Given the description of an element on the screen output the (x, y) to click on. 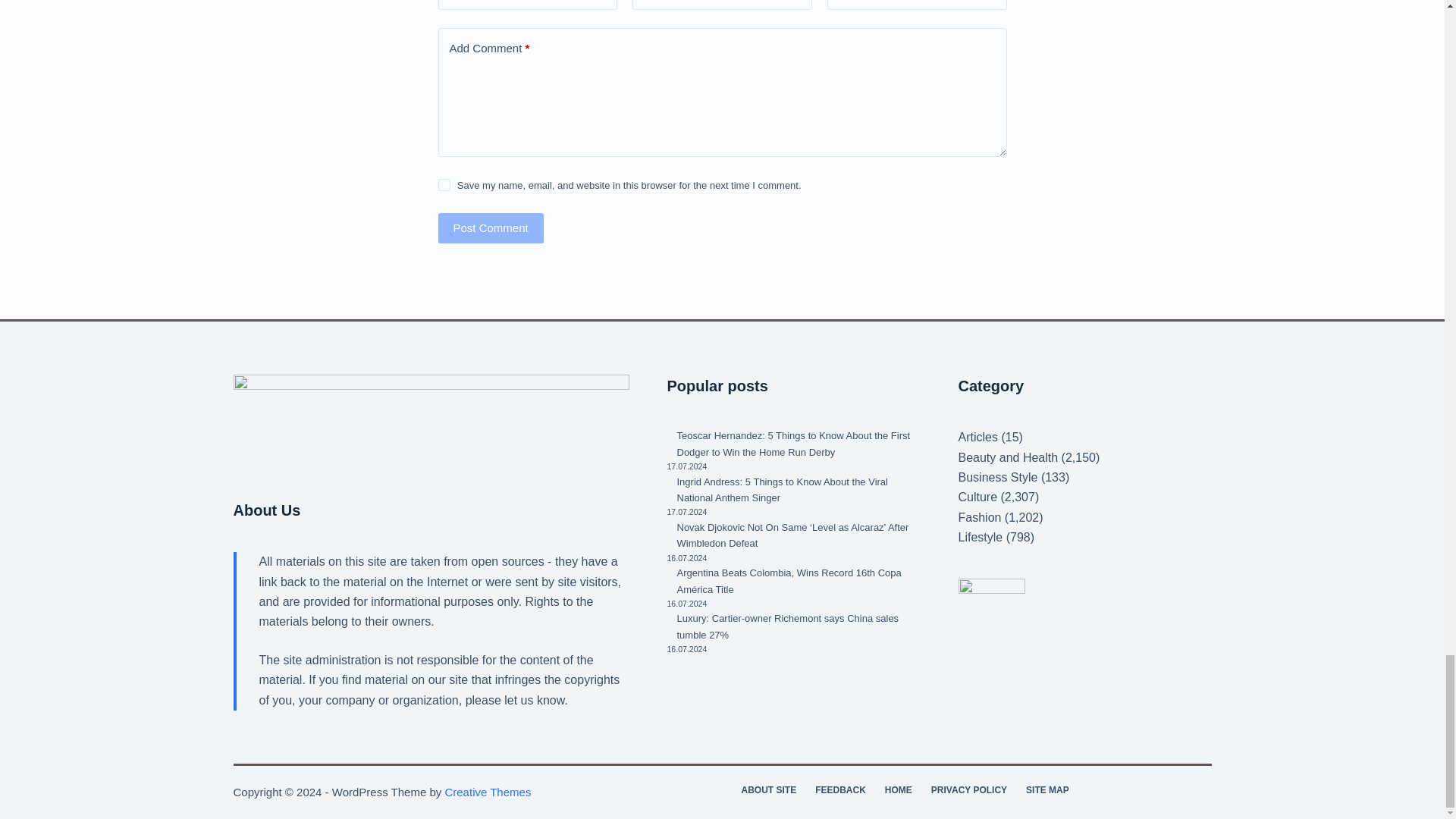
Post Comment (490, 227)
yes (443, 184)
